Given the description of an element on the screen output the (x, y) to click on. 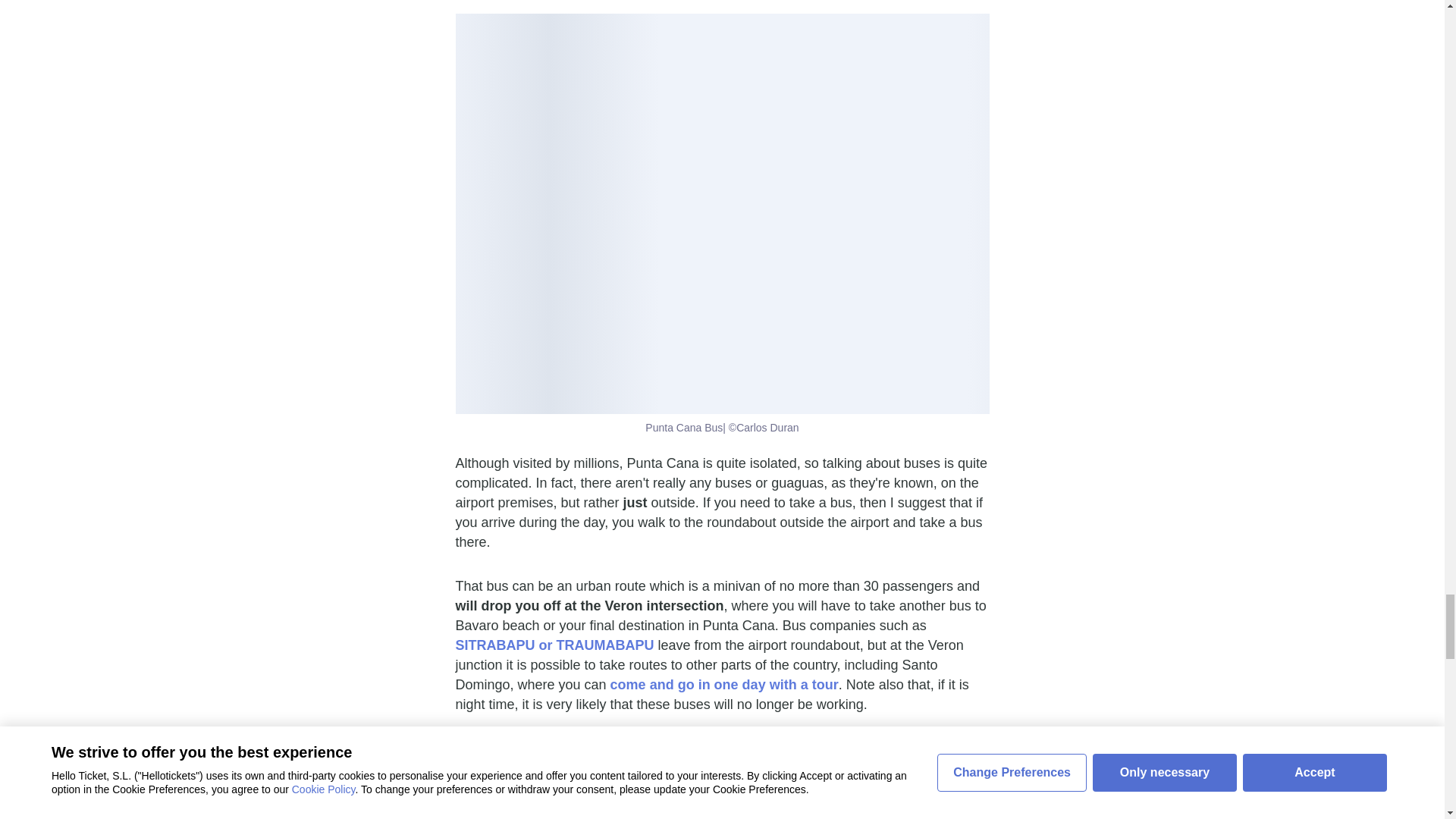
SITRABAPU or TRAUMABAPU (553, 645)
come and go in one day with a tour (724, 684)
